Given the description of an element on the screen output the (x, y) to click on. 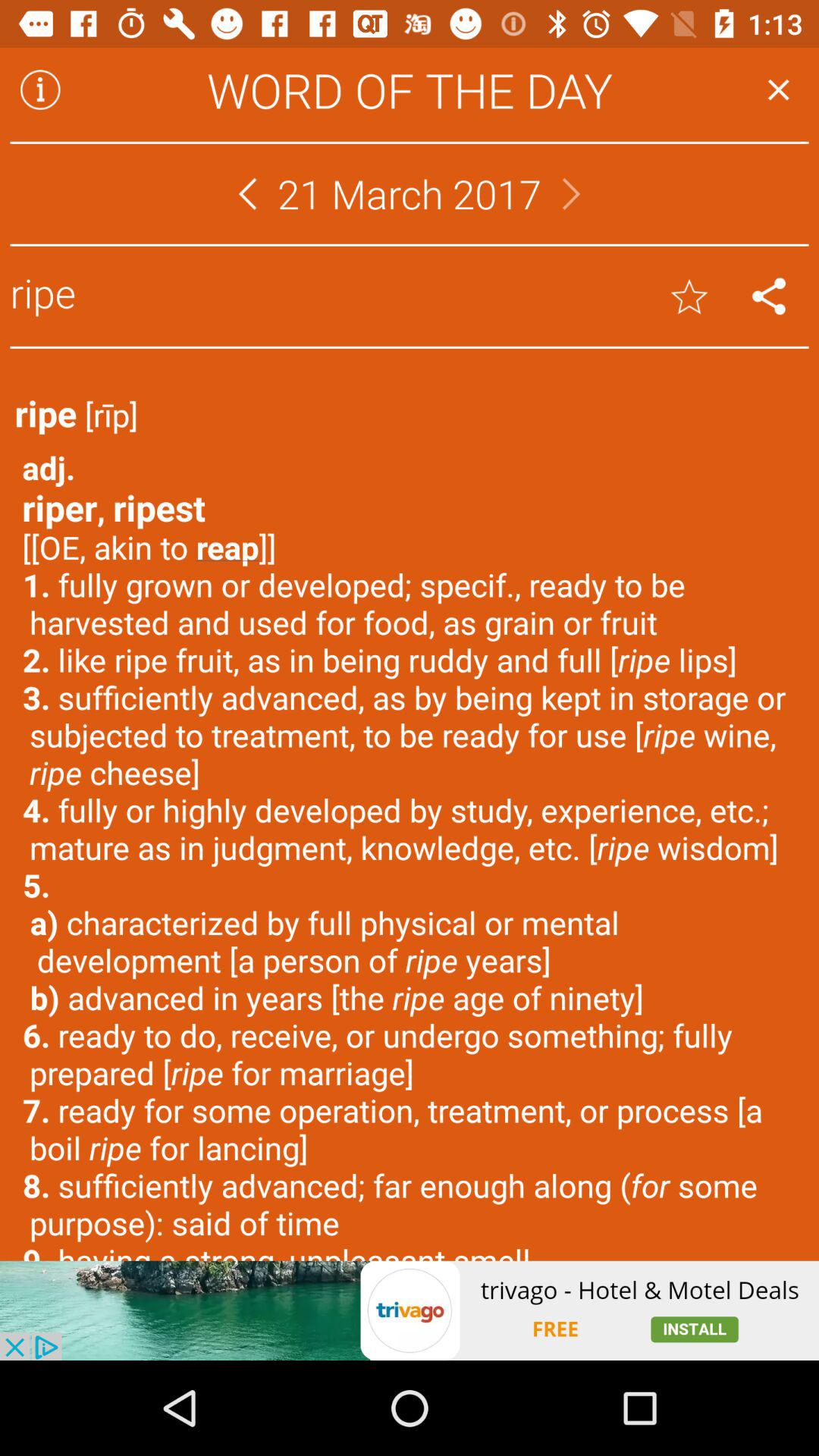
go back (247, 193)
